Given the description of an element on the screen output the (x, y) to click on. 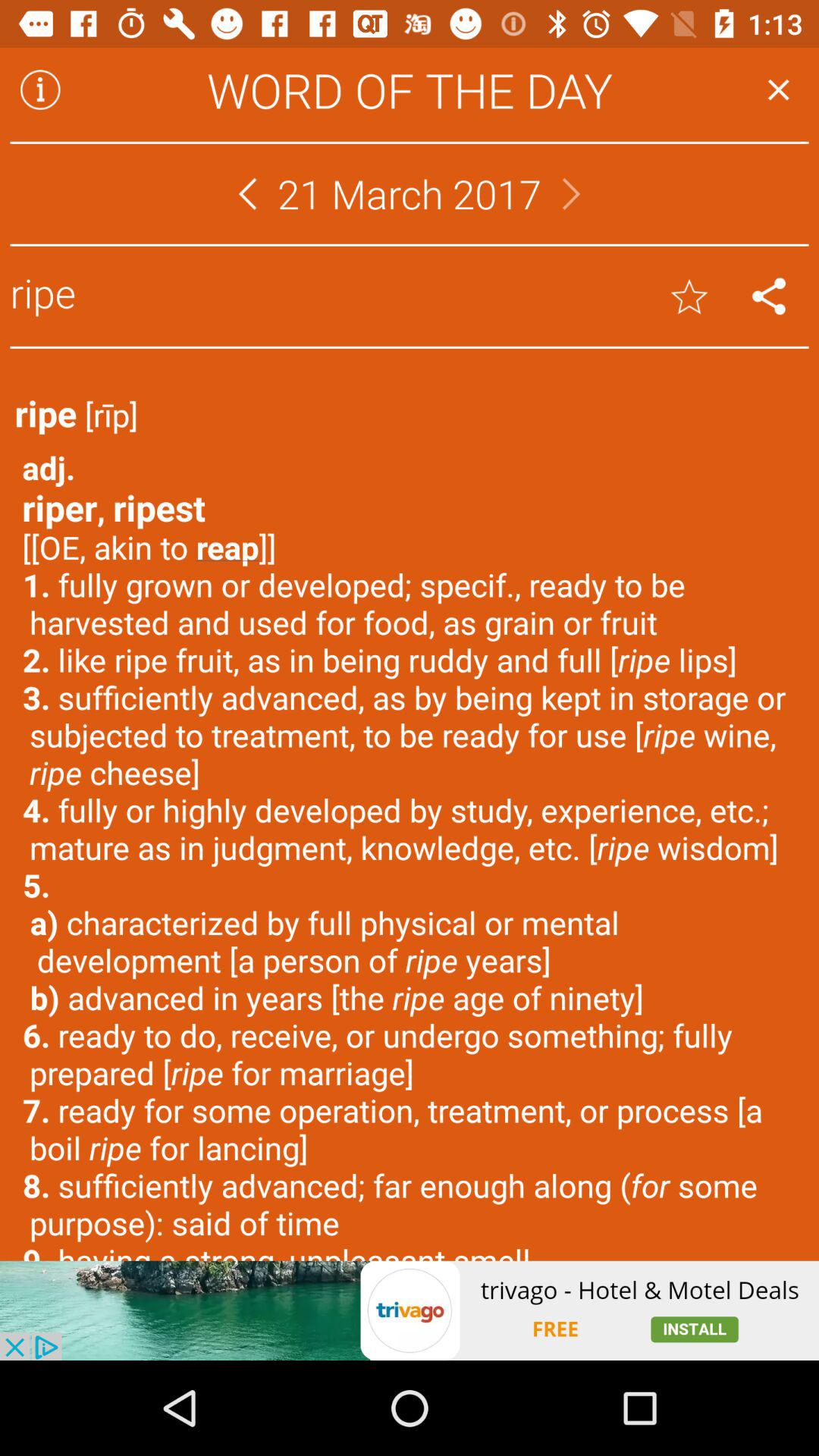
go back (247, 193)
